Given the description of an element on the screen output the (x, y) to click on. 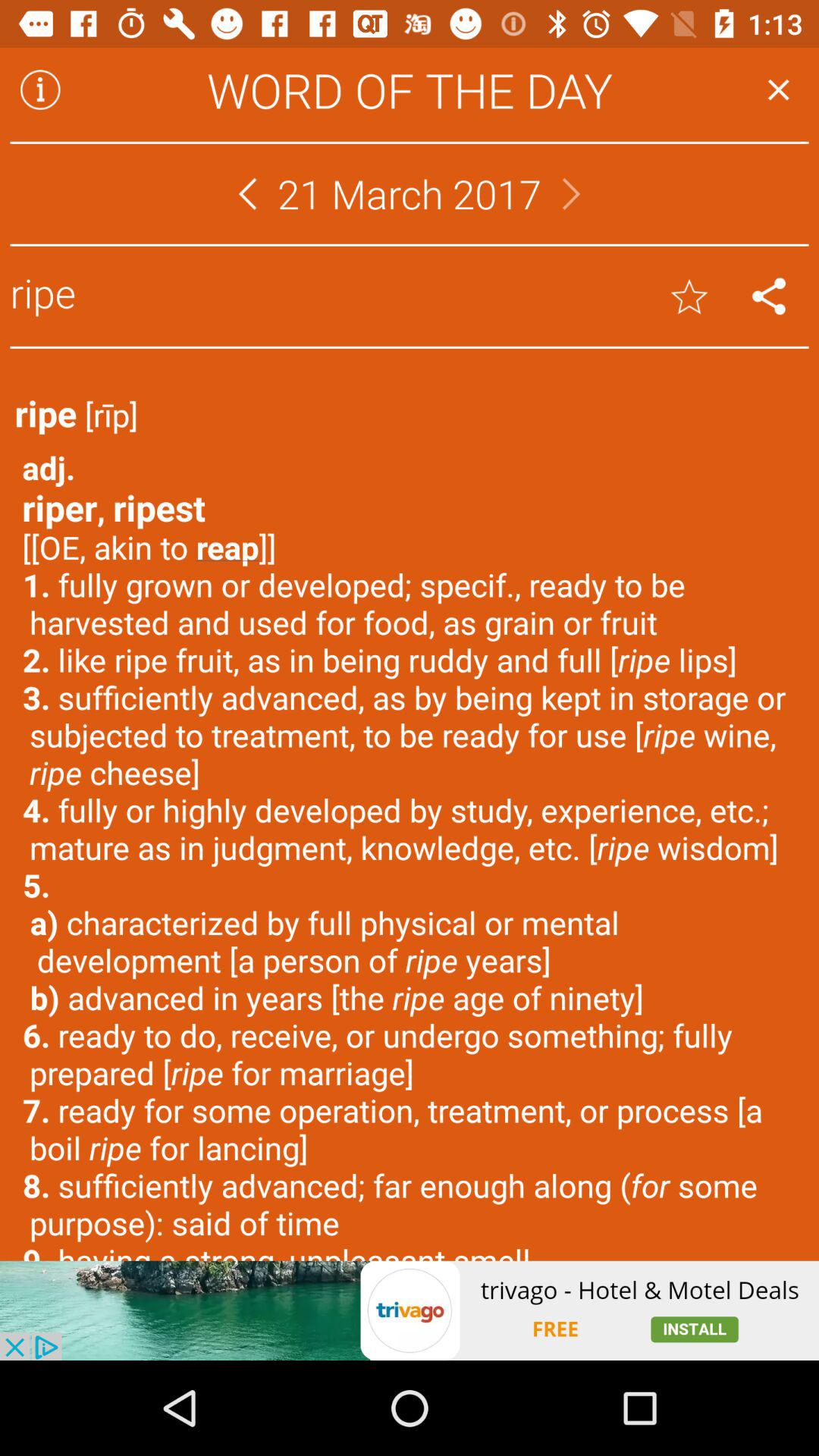
go back (247, 193)
